Given the description of an element on the screen output the (x, y) to click on. 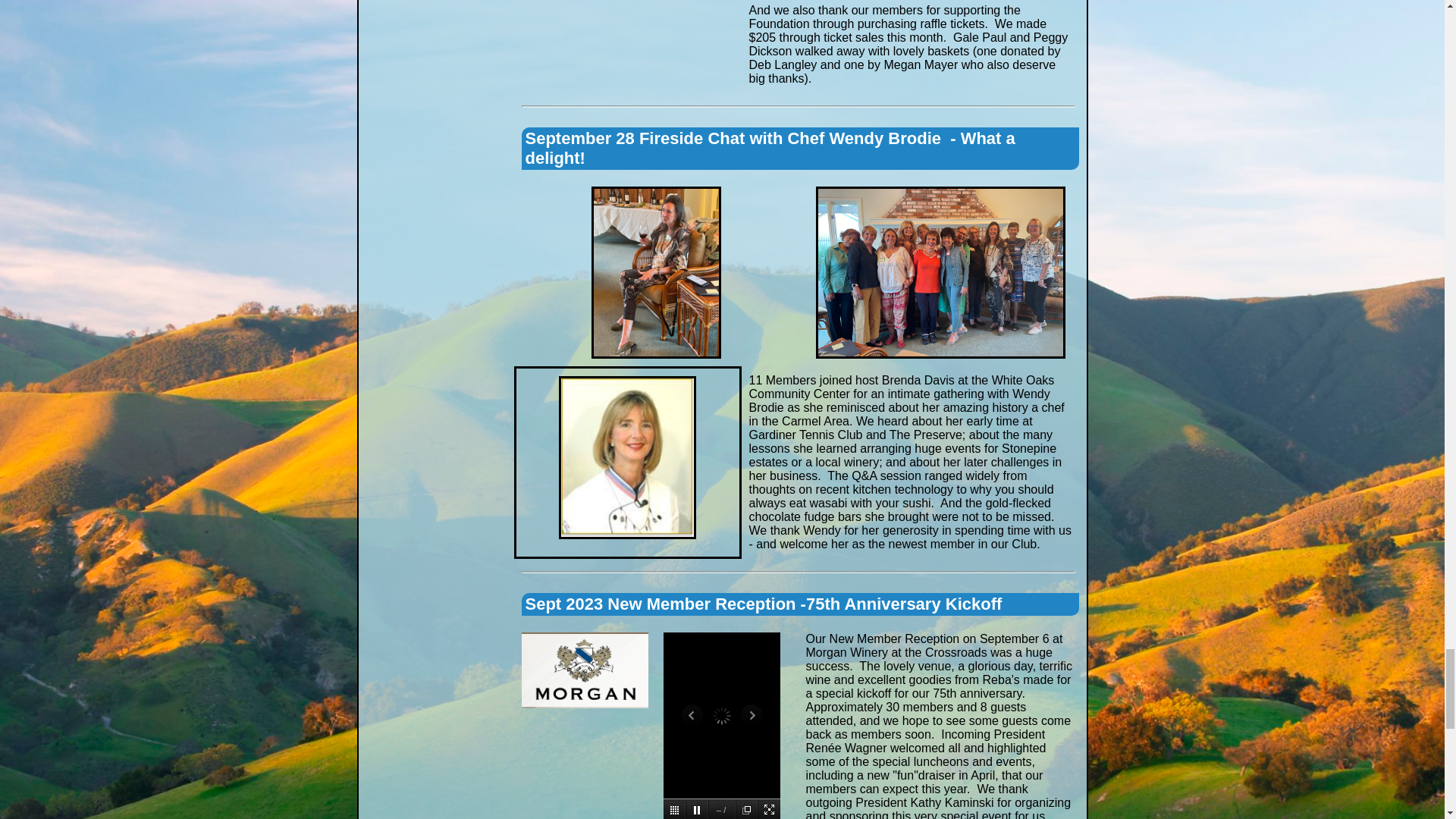
WhiteOaksCrew.jpg (940, 272)
